Given the description of an element on the screen output the (x, y) to click on. 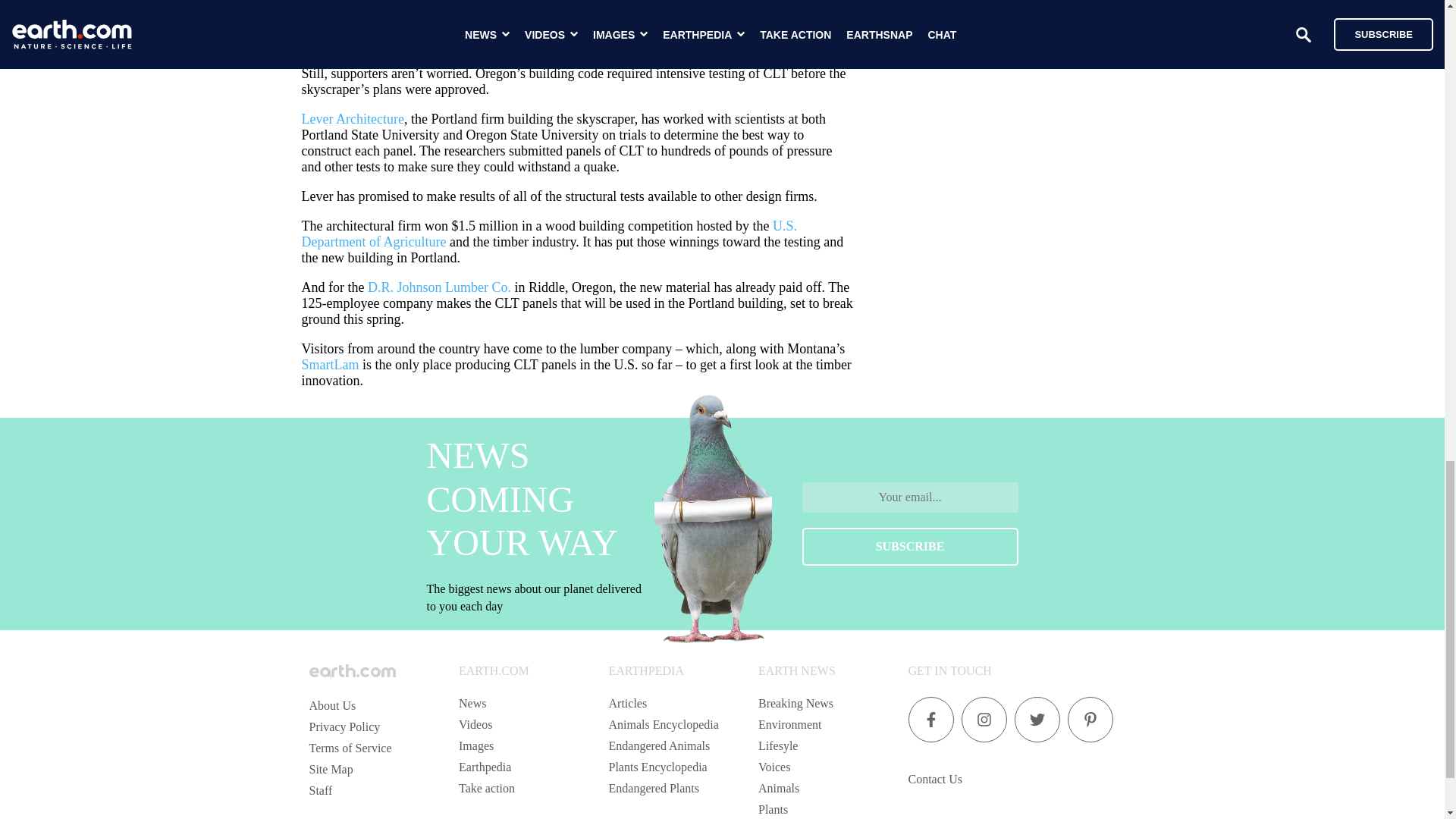
SmartLam (330, 364)
About Us (332, 705)
D.R. Johnson Lumber Co. (439, 287)
SUBSCRIBE (909, 546)
Lever Architecture (352, 118)
U.S. Department of Agriculture (548, 233)
